Given the description of an element on the screen output the (x, y) to click on. 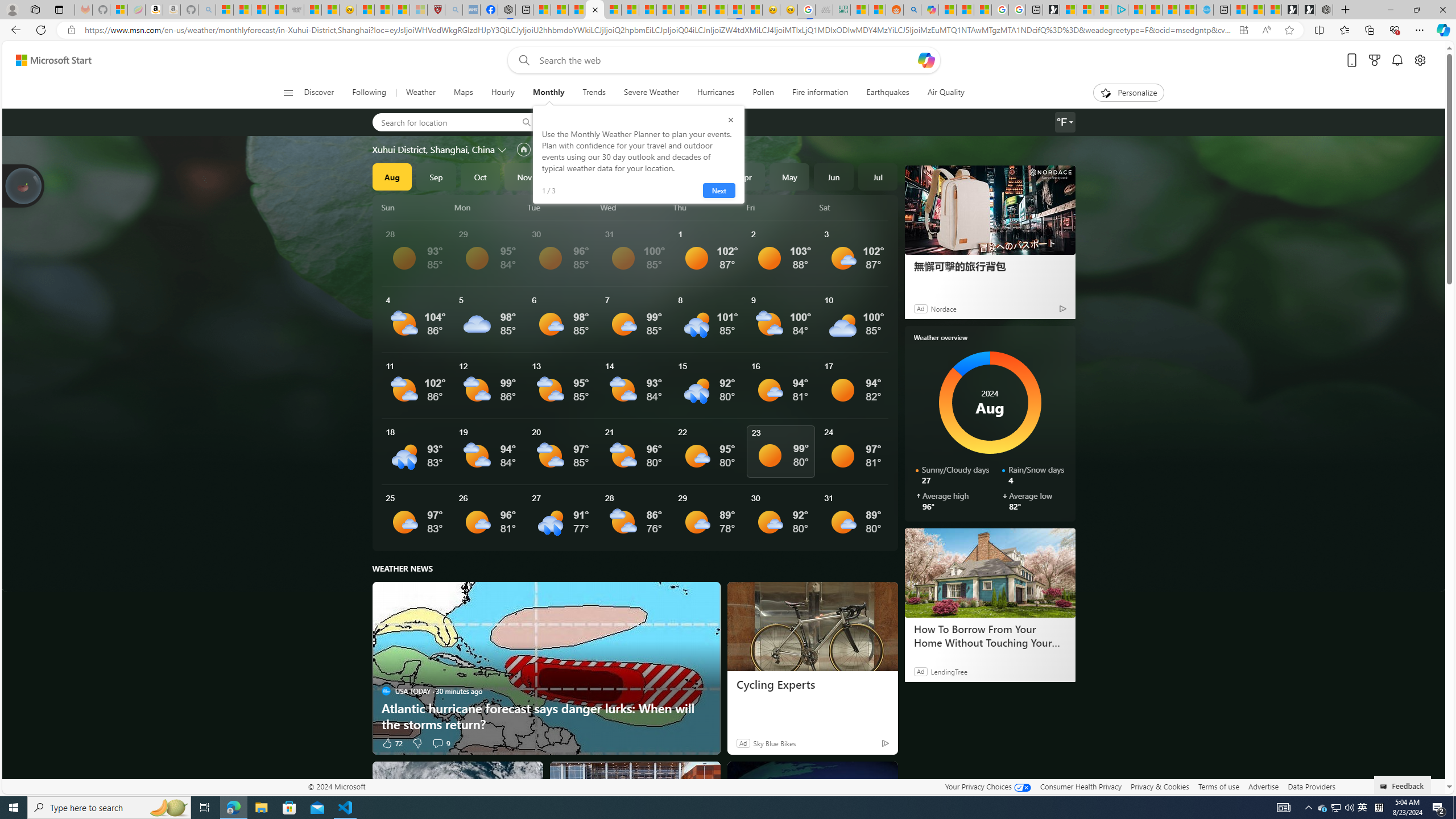
Maps (462, 92)
Personalize (1128, 92)
Cycling Experts (812, 684)
Jun (833, 176)
Jul (877, 176)
Sep (435, 176)
Apr (745, 176)
